Given the description of an element on the screen output the (x, y) to click on. 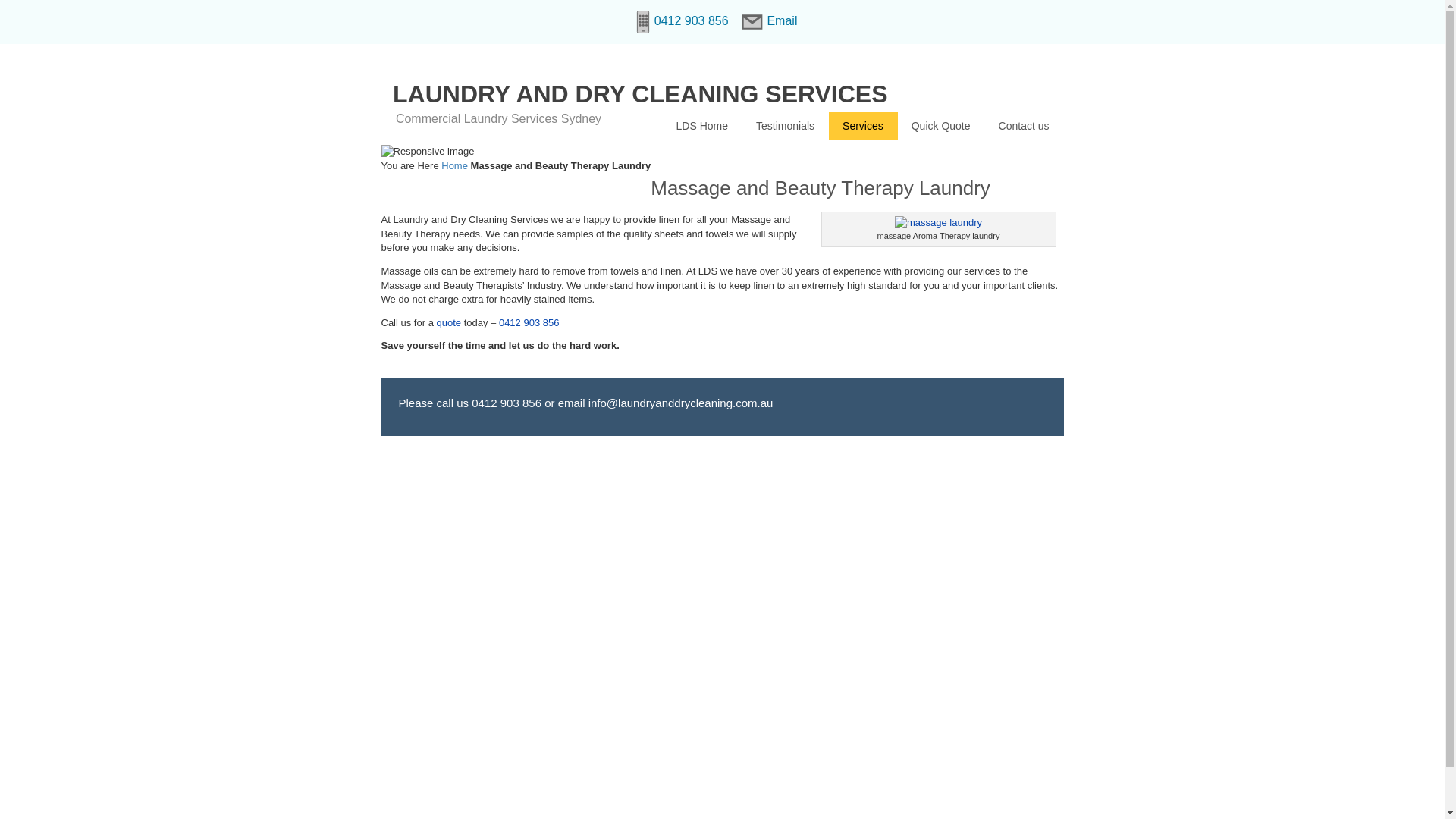
Contact us Element type: text (1024, 126)
Home Element type: text (454, 165)
Testimonials Element type: text (785, 126)
LDS Home Element type: text (702, 126)
Quick Quote Element type: text (941, 126)
0412 903 856 Element type: text (679, 20)
LAUNDRY AND DRY CLEANING SERVICES Element type: text (640, 93)
quote Element type: text (448, 322)
Email Element type: text (770, 20)
Services Element type: text (862, 126)
0412 903 856 Element type: text (528, 322)
0412 903 856 Element type: text (506, 402)
email info@laundryanddrycleaning.com.au Element type: text (665, 402)
